Given the description of an element on the screen output the (x, y) to click on. 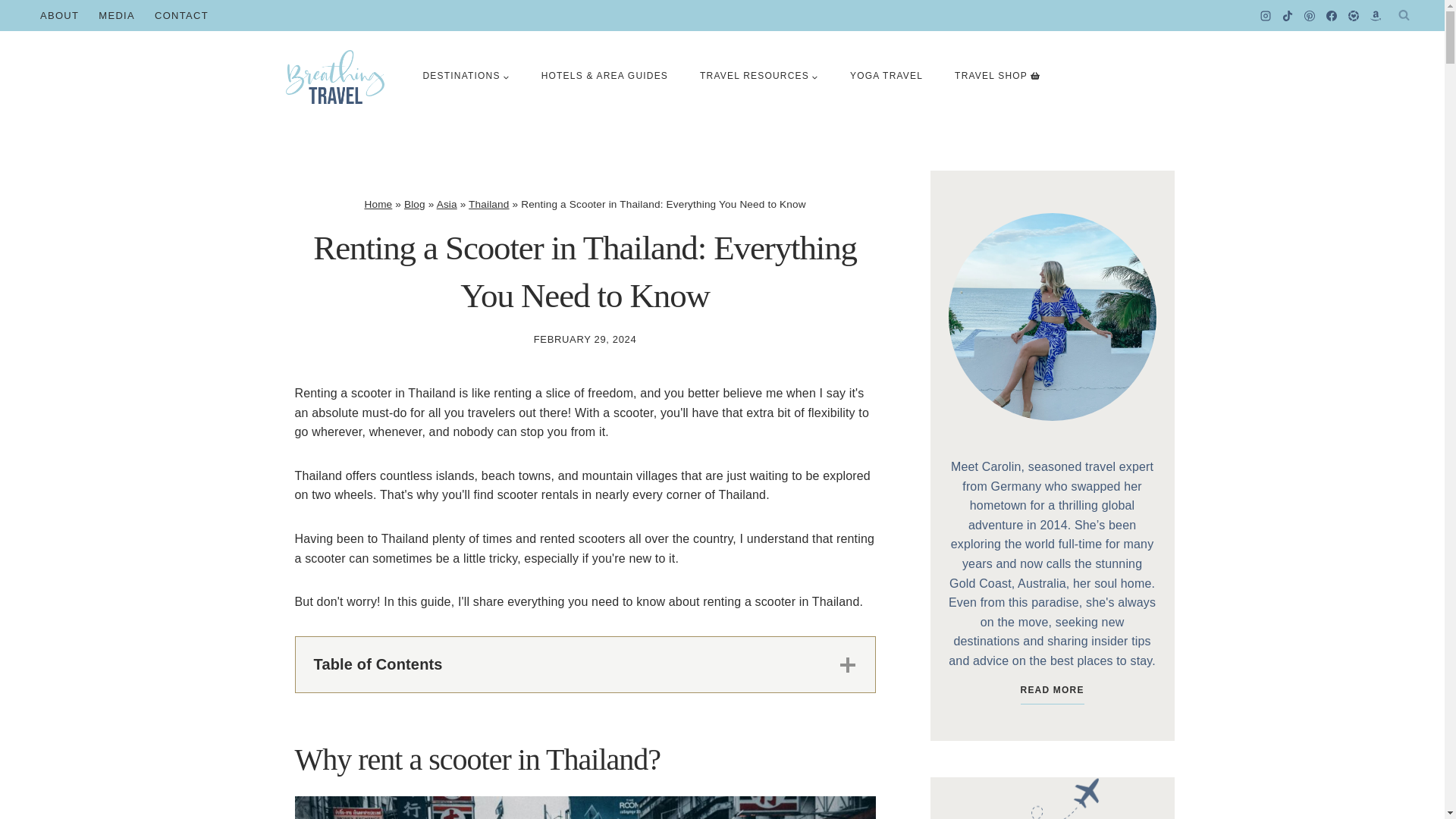
ABOUT (59, 15)
MEDIA (116, 15)
DESTINATIONS (465, 76)
CONTACT (181, 15)
